Given the description of an element on the screen output the (x, y) to click on. 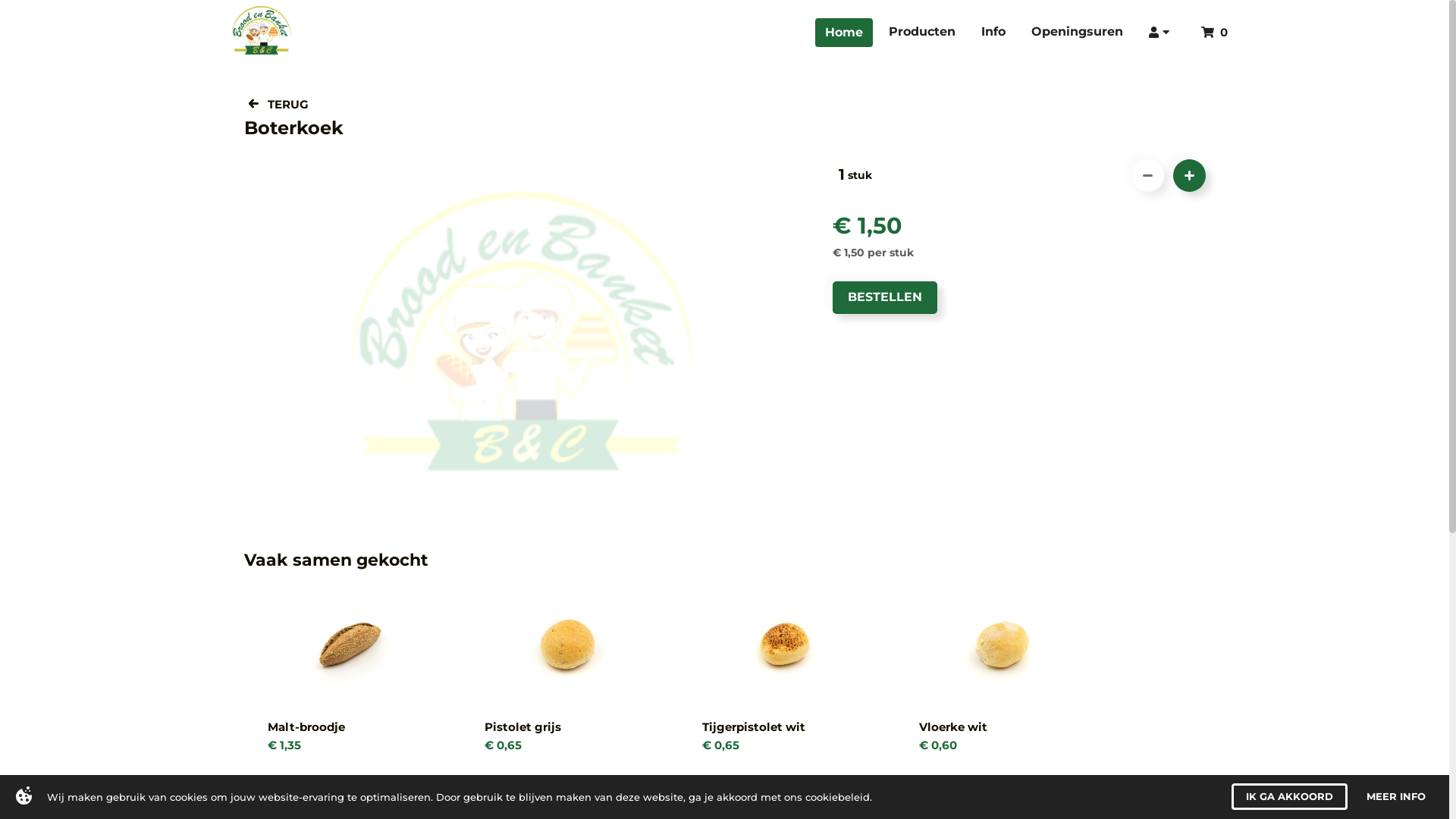
TERUG Element type: text (278, 103)
0 Element type: text (1214, 32)
IK GA AKKOORD Element type: text (1289, 796)
Info Element type: text (993, 32)
Home Element type: text (843, 32)
MEER INFO Element type: text (1395, 796)
Openingsuren Element type: text (1076, 32)
BESTELLEN Element type: text (884, 297)
Producten Element type: text (921, 32)
